Given the description of an element on the screen output the (x, y) to click on. 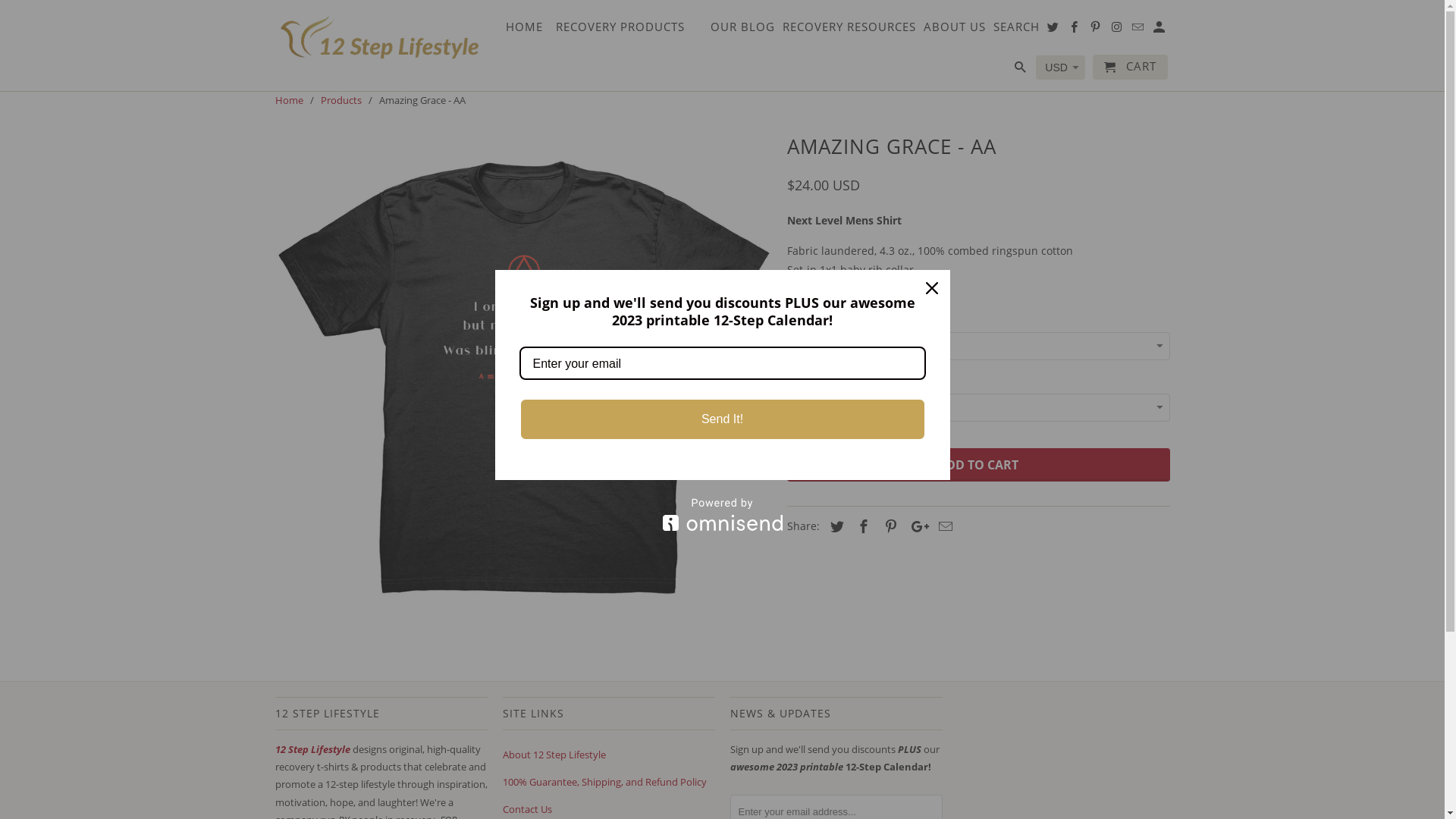
12 Step Lifestyle on Facebook Element type: hover (1075, 29)
OUR BLOG Element type: text (742, 29)
100% Guarantee, Shipping, and Refund Policy Element type: text (604, 781)
Share this on Facebook Element type: hover (861, 526)
Contact Us Element type: text (526, 808)
12 Step Lifestyle Element type: hover (380, 36)
RECOVERY RESOURCES Element type: text (849, 29)
12 Step Lifestyle on Instagram Element type: hover (1117, 29)
CART Element type: text (1129, 66)
Email this to a friend Element type: hover (943, 526)
Email 12 Step Lifestyle Element type: hover (1138, 29)
About 12 Step Lifestyle Element type: text (553, 754)
Amazing Grace - AA Element type: hover (522, 376)
SEARCH Element type: text (1016, 29)
Share this on Pinterest Element type: hover (888, 526)
12 Step Lifestyle on Pinterest Element type: hover (1096, 29)
Share this on Twitter Element type: hover (834, 526)
HOME Element type: text (523, 29)
ABOUT US Element type: text (954, 29)
Home Element type: text (288, 99)
Products Element type: text (340, 99)
My Account  Element type: hover (1160, 29)
12 Step Lifestyle Element type: text (312, 749)
Share this on Google+ Element type: hover (915, 526)
12 Step Lifestyle on Twitter Element type: hover (1053, 29)
Search Element type: hover (1021, 69)
ADD TO CART Element type: text (978, 464)
